Given the description of an element on the screen output the (x, y) to click on. 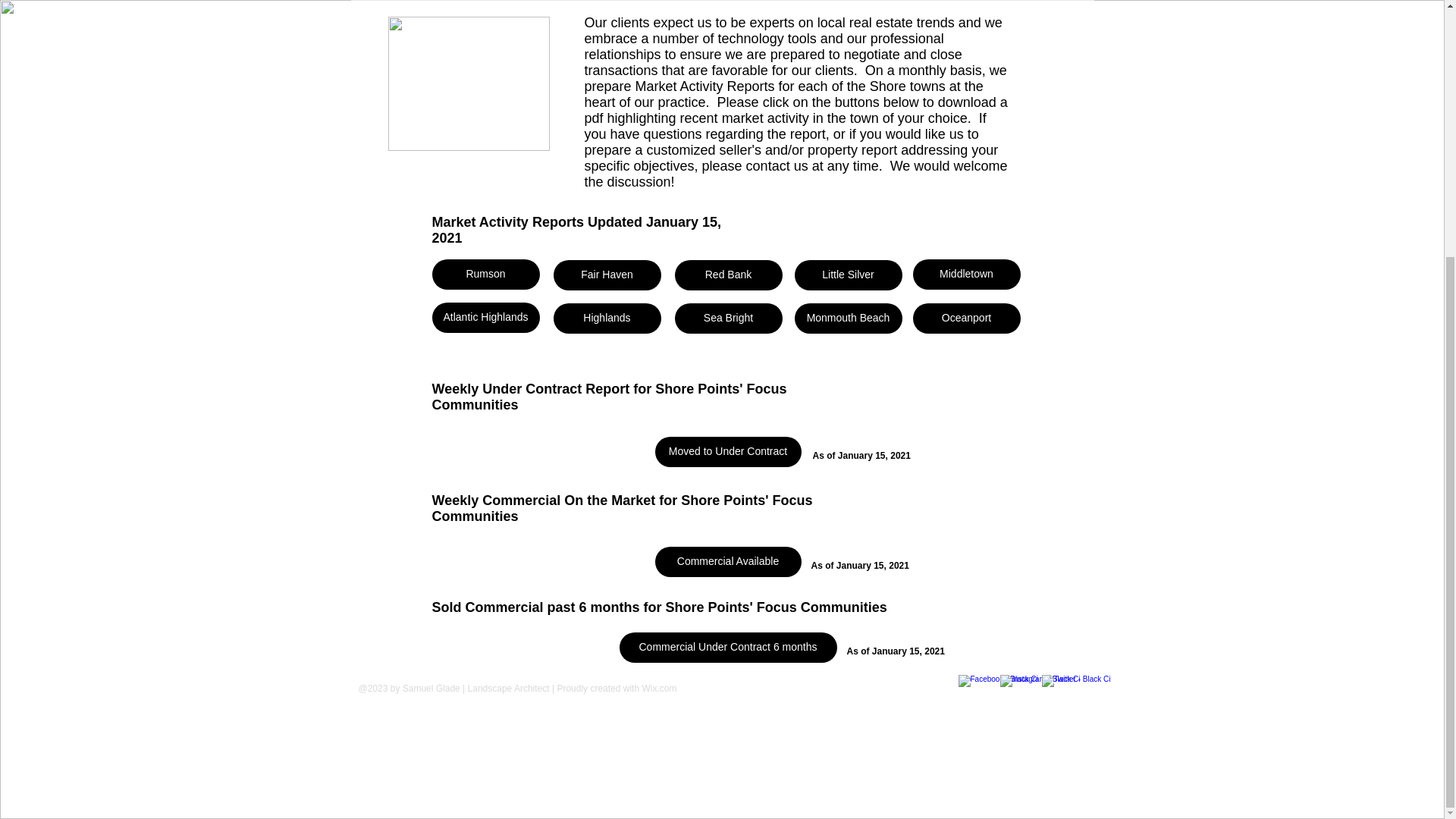
Little Silver (848, 275)
Wix.com (659, 688)
Highlands (607, 318)
Rumson (486, 274)
Middletown (966, 274)
rumson bridge.jpg (469, 83)
Fair Haven (607, 275)
Moved to Under Contract (728, 451)
Oceanport (966, 318)
Red Bank (729, 275)
Atlantic Highlands (486, 317)
Monmouth Beach (848, 318)
Commercial Under Contract 6 months (726, 647)
Sea Bright (729, 318)
Commercial Available (728, 562)
